Given the description of an element on the screen output the (x, y) to click on. 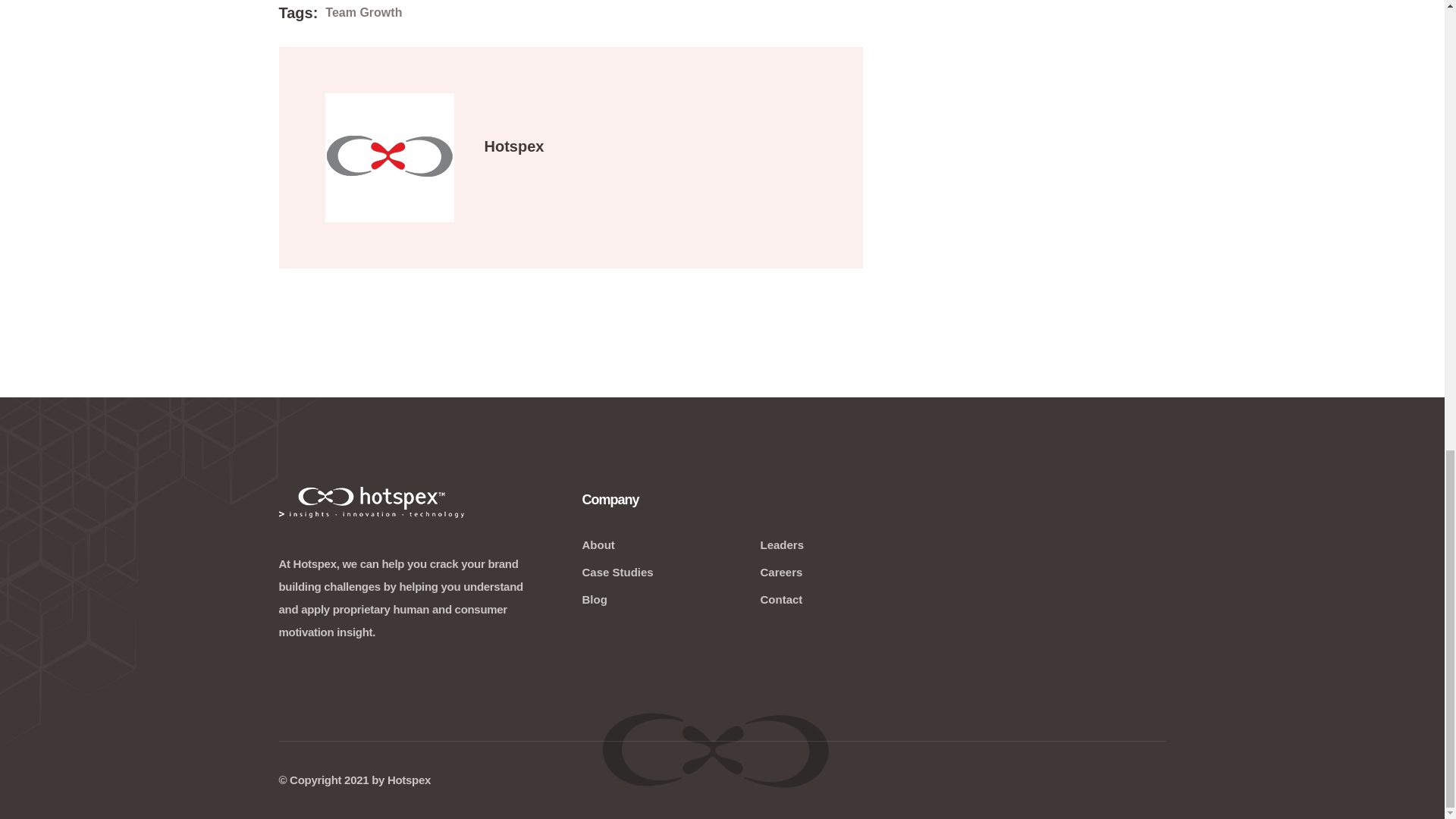
Blog (593, 599)
Case Studies (616, 572)
Contact (781, 599)
Careers (781, 572)
About (597, 544)
Team Growth (362, 13)
Leaders (781, 544)
